Given the description of an element on the screen output the (x, y) to click on. 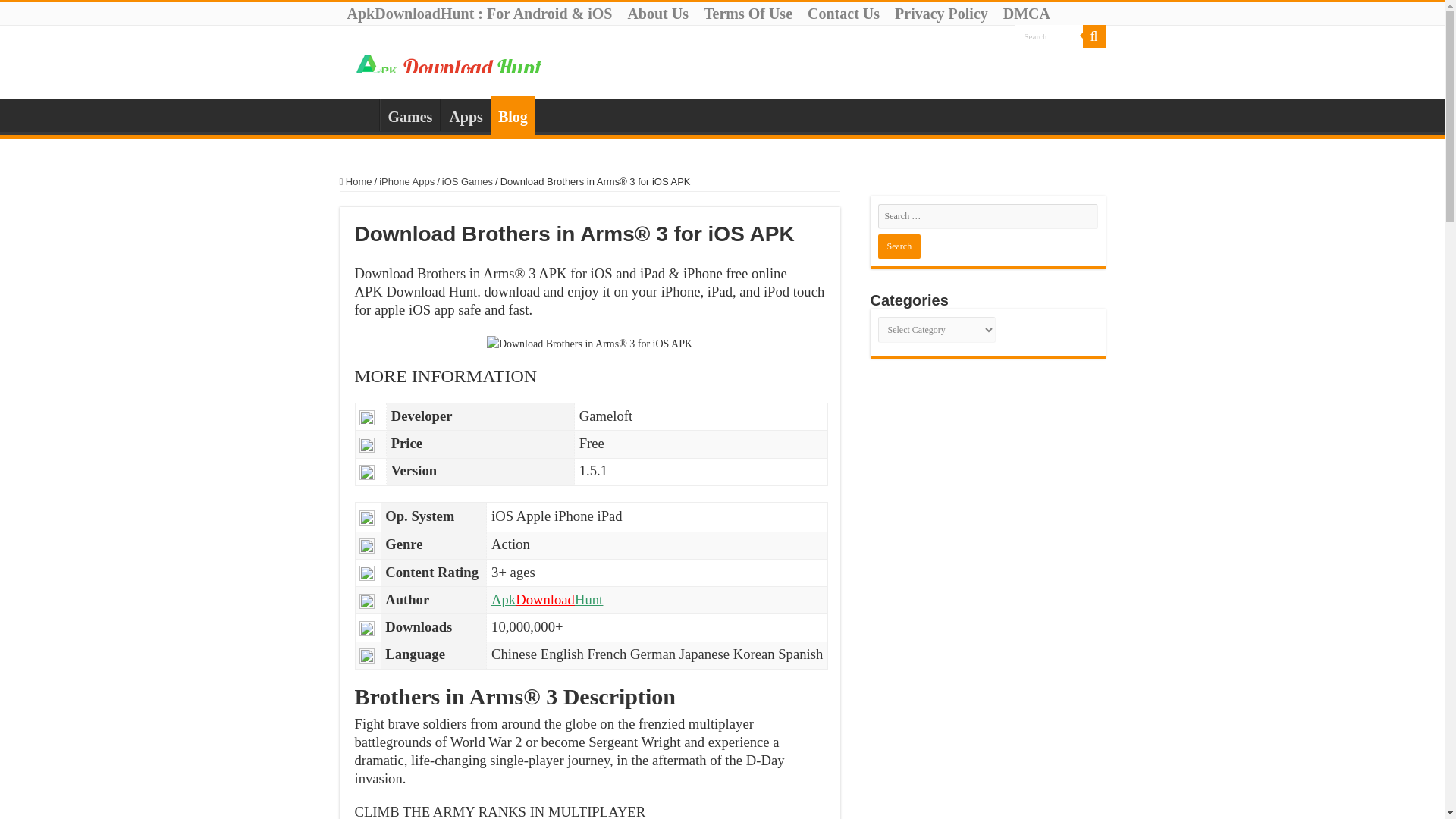
Privacy Policy (940, 13)
Search (1094, 36)
Home (355, 181)
Games (408, 115)
DMCA (1026, 13)
Contact Us (842, 13)
Search (899, 246)
Search (1048, 35)
ApkDownloadHunt (547, 599)
Search (1048, 35)
